Given the description of an element on the screen output the (x, y) to click on. 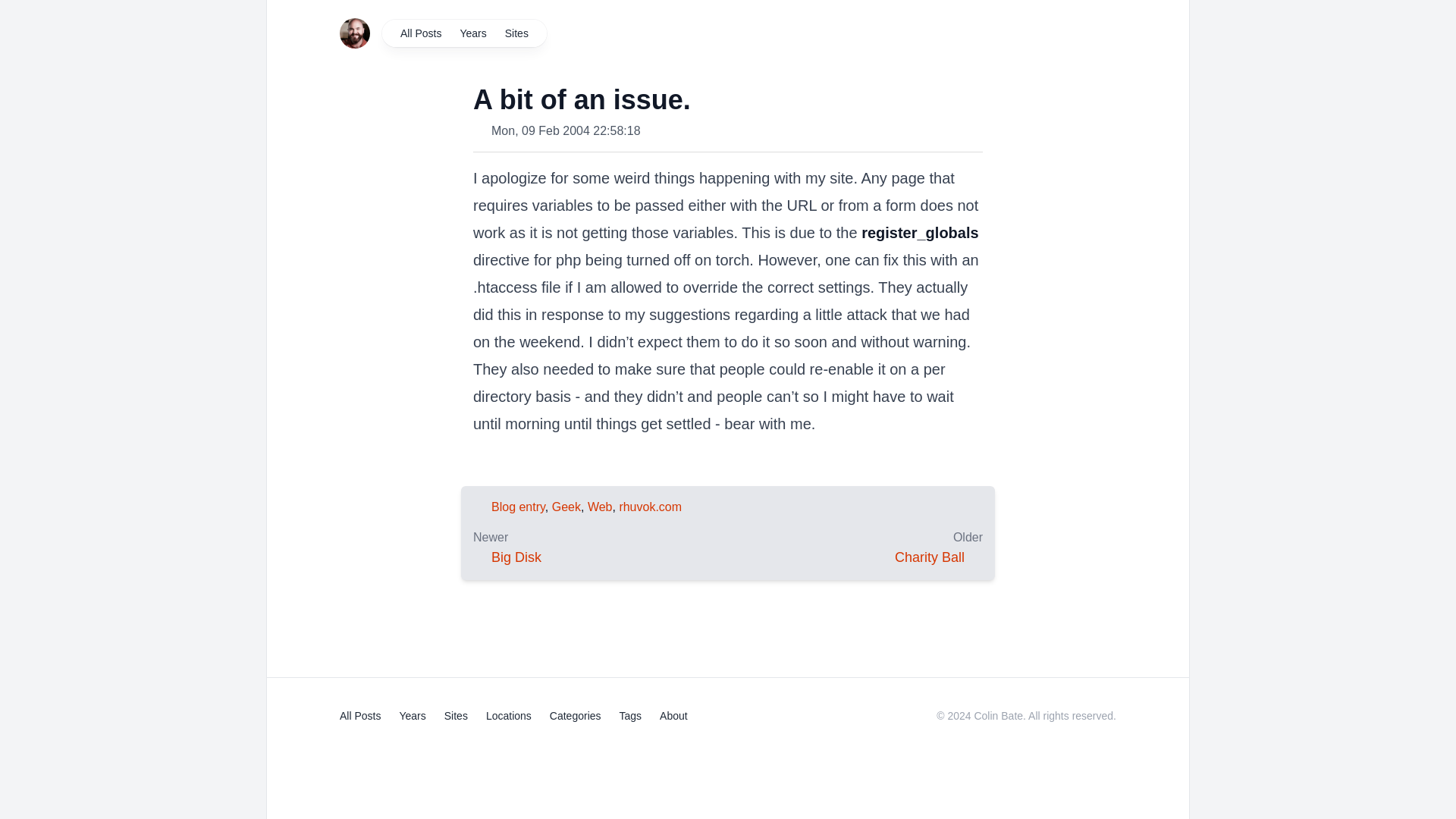
Years (472, 32)
Blog entry (518, 506)
About (673, 715)
Geek (565, 506)
Tags (631, 715)
All Posts (359, 715)
Sites (455, 715)
Big Disk (516, 557)
Locations (508, 715)
Sites (516, 32)
Categories (575, 715)
Web (600, 506)
Years (411, 715)
rhuvok.com (649, 506)
All Posts (420, 32)
